Given the description of an element on the screen output the (x, y) to click on. 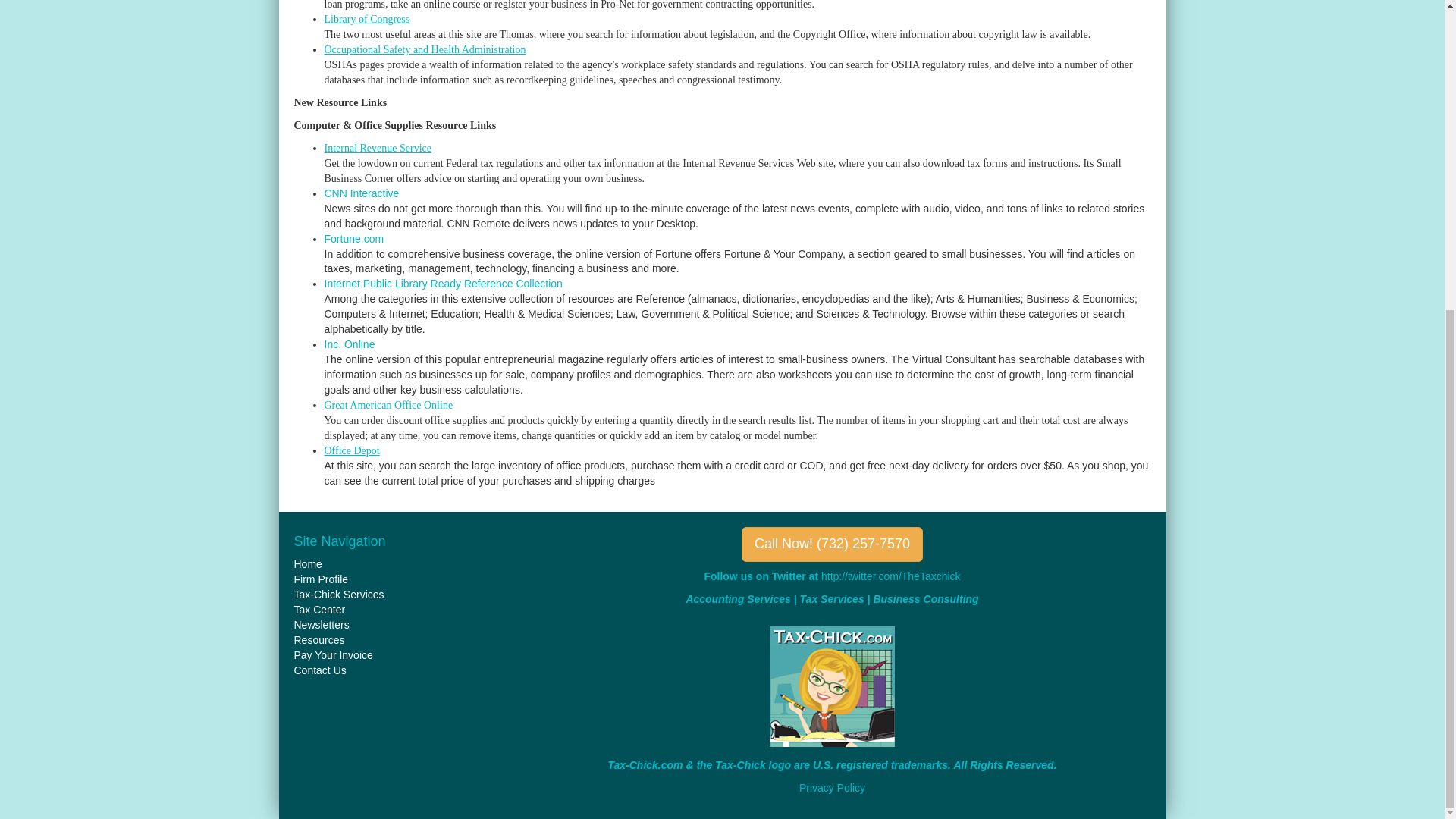
CNN Interactive (361, 193)
Library of Congress (367, 19)
Occupational Safety and Health Administration (424, 49)
Internal Revenue Service (378, 147)
Fortune.com (354, 238)
